Given the description of an element on the screen output the (x, y) to click on. 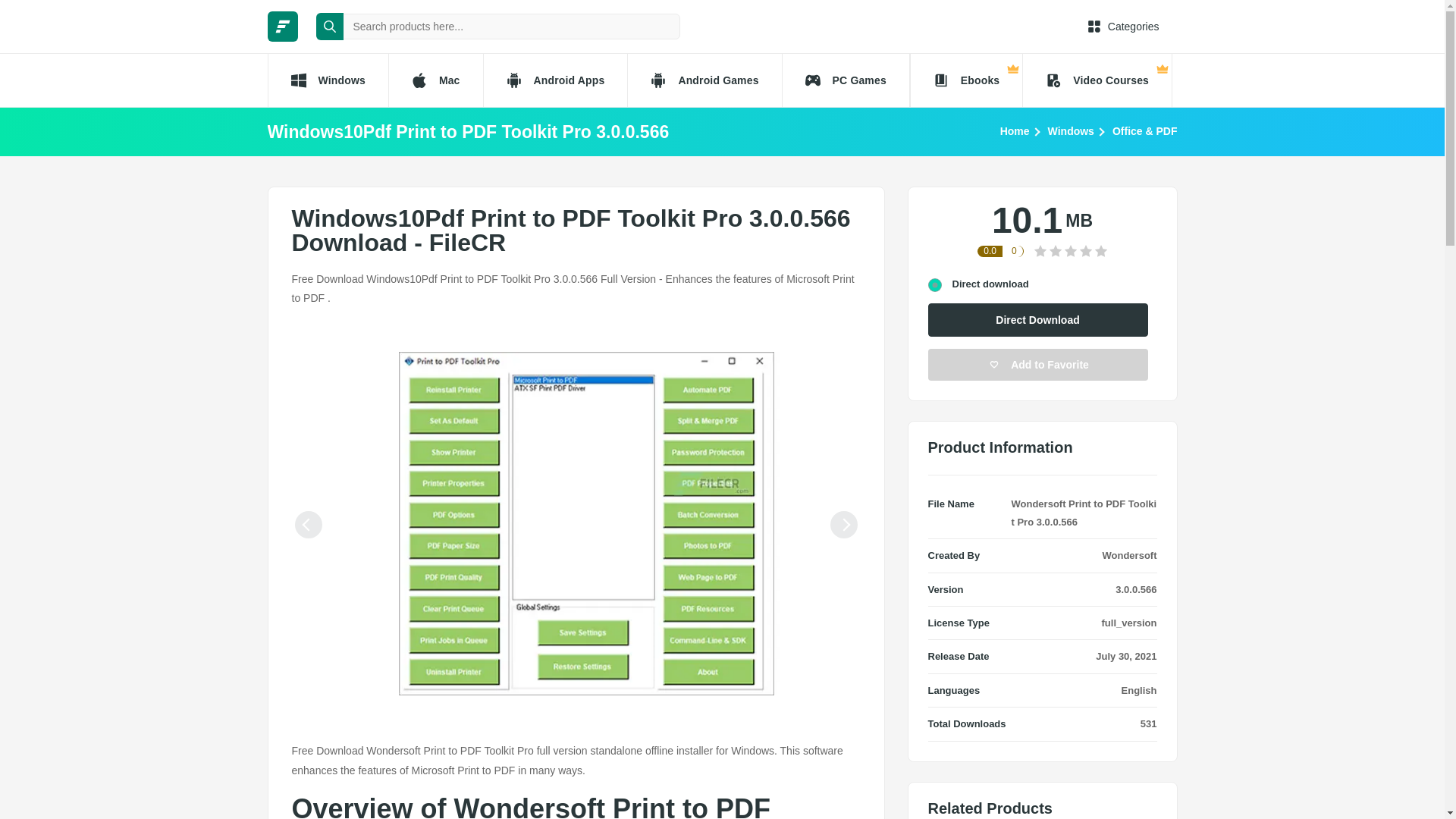
Home (1014, 131)
PC Games (845, 80)
Add to Favorite (1038, 364)
Categories (1122, 26)
Windows (326, 80)
Android Apps (555, 80)
Mac (435, 80)
Wondersoft (1129, 555)
Direct Download (1038, 319)
Windows (1071, 131)
